Given the description of an element on the screen output the (x, y) to click on. 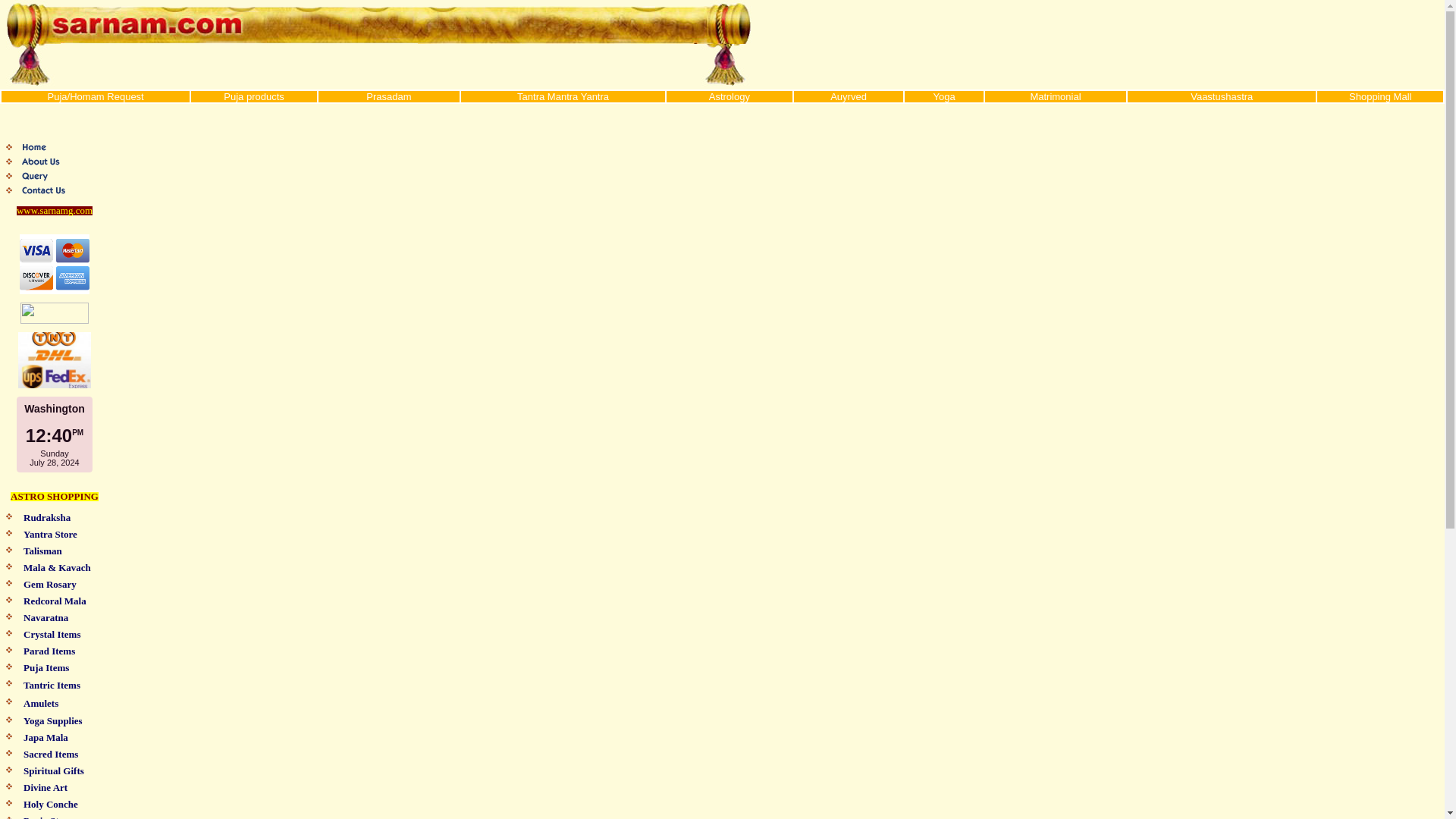
Pooja Store (47, 817)
Yantra Store (50, 533)
Puja Items (45, 667)
Navaratna (45, 617)
Rudraksha (46, 517)
Spiritual Gifts (53, 770)
Tantric Items (51, 685)
Yoga (944, 96)
Crystal Items (51, 634)
Parad Items (49, 651)
Holy Conche (50, 804)
Matrimonial (1054, 96)
www.sarnamg.com (54, 210)
Puja products (253, 96)
Astrology (729, 96)
